Given the description of an element on the screen output the (x, y) to click on. 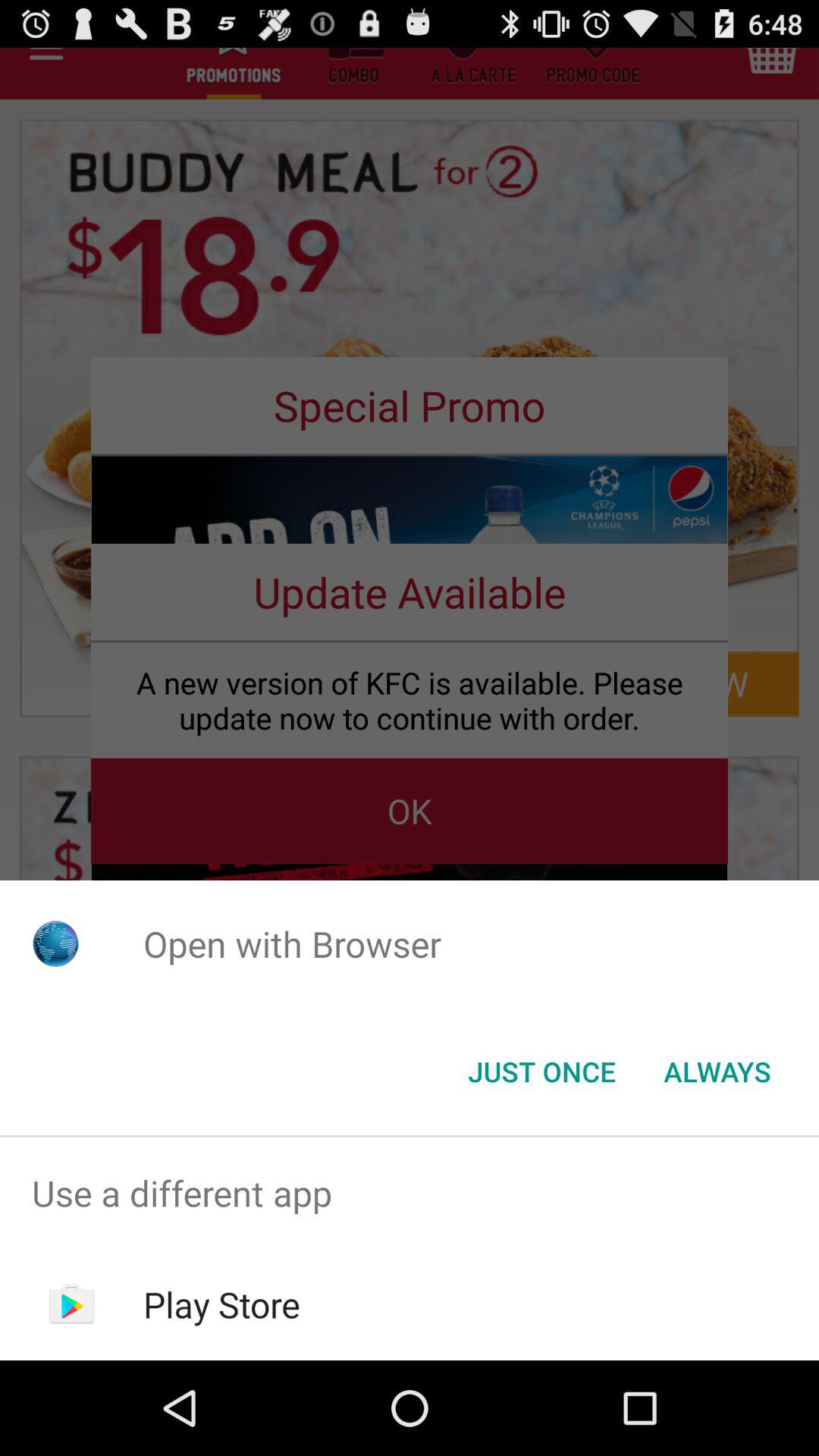
swipe to always item (717, 1071)
